Given the description of an element on the screen output the (x, y) to click on. 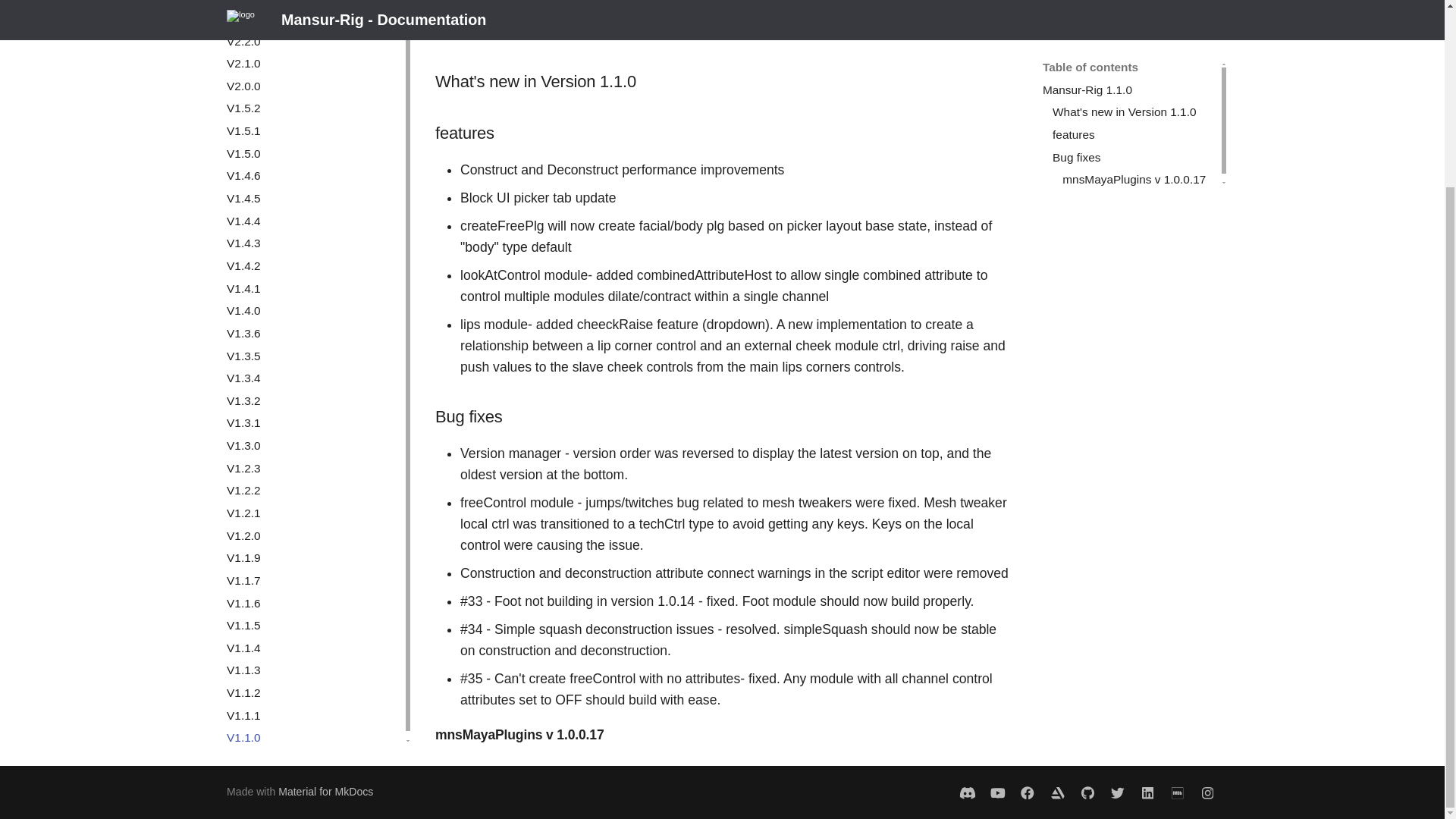
github.com (1087, 791)
discord.gg (966, 791)
www.linkedin.com (1056, 791)
twitter.com (1117, 791)
www.linkedin.com (1147, 791)
www.imdb.com (1177, 791)
www.youtube.com (997, 791)
www.instagram.com (1207, 791)
www.facebook.com (1027, 791)
